Given the description of an element on the screen output the (x, y) to click on. 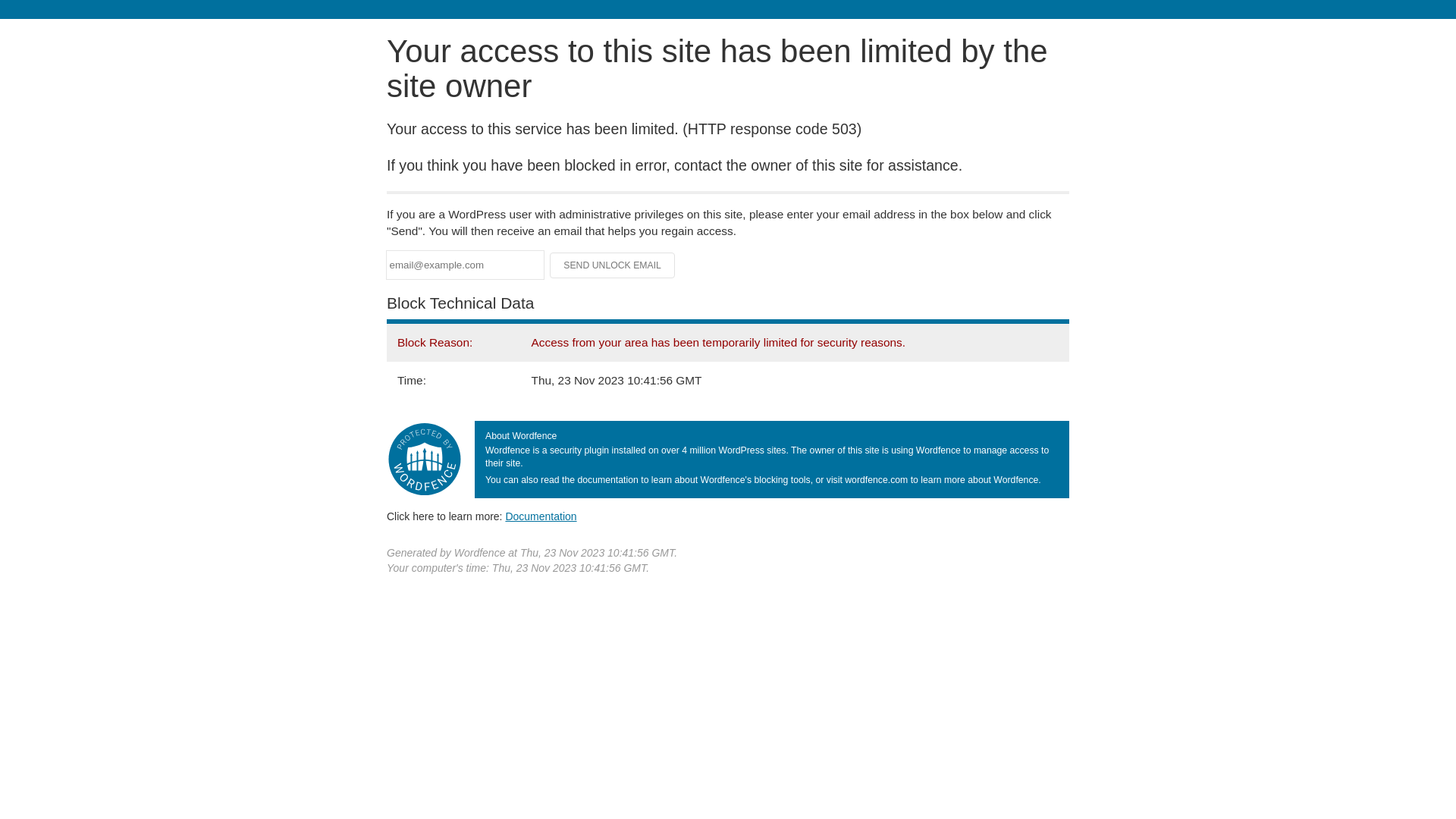
Documentation Element type: text (540, 516)
Send Unlock Email Element type: text (612, 265)
